Given the description of an element on the screen output the (x, y) to click on. 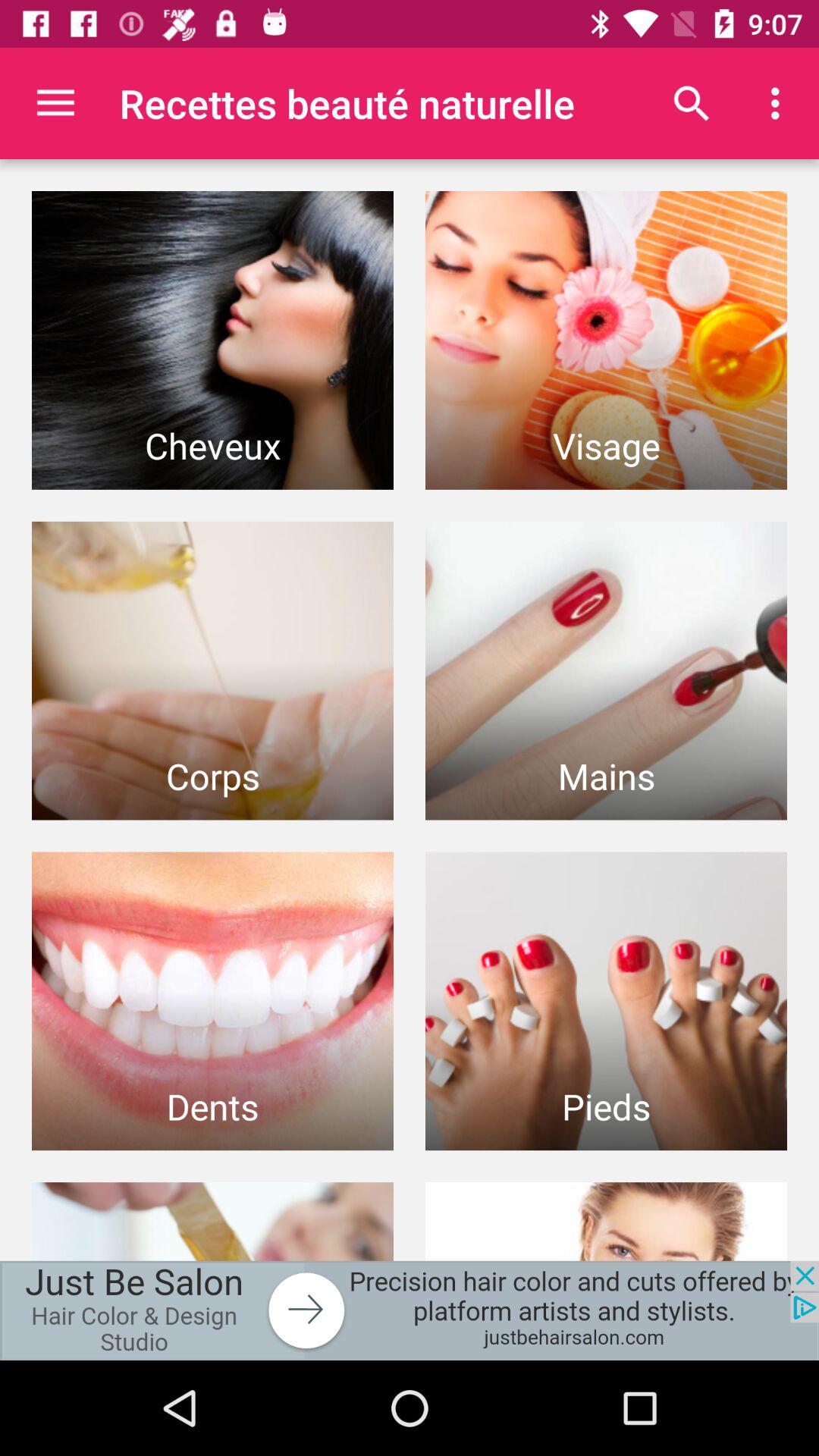
advertisement portion (409, 1310)
